Given the description of an element on the screen output the (x, y) to click on. 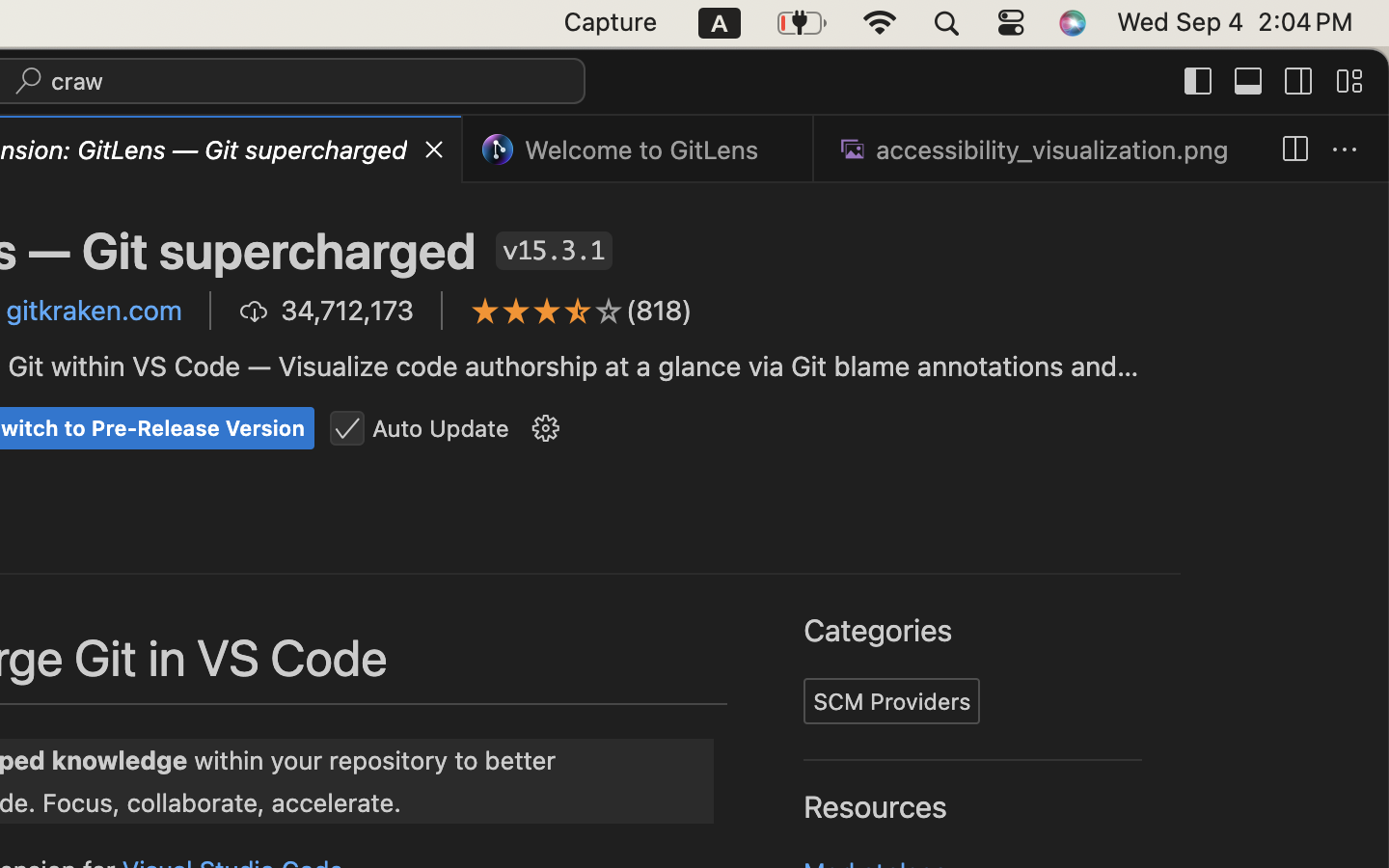
Resources Element type: AXStaticText (875, 806)
 Element type: AXStaticText (547, 310)
Categories Element type: AXStaticText (878, 631)
 Element type: AXCheckBox (346, 428)
